Given the description of an element on the screen output the (x, y) to click on. 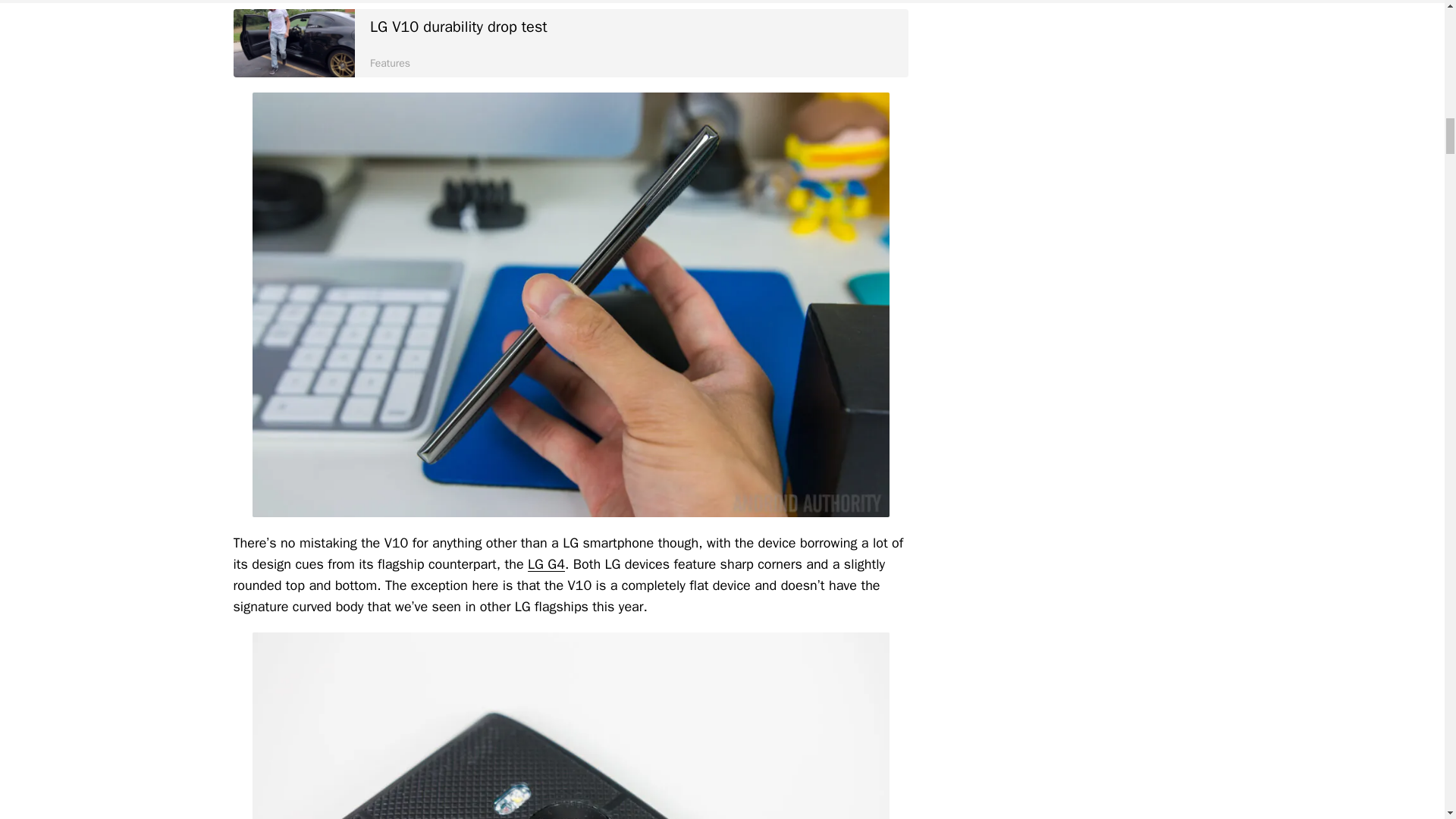
LG G4 (545, 564)
lg v10 (570, 42)
LG V10 Hands On-11 (293, 42)
